Given the description of an element on the screen output the (x, y) to click on. 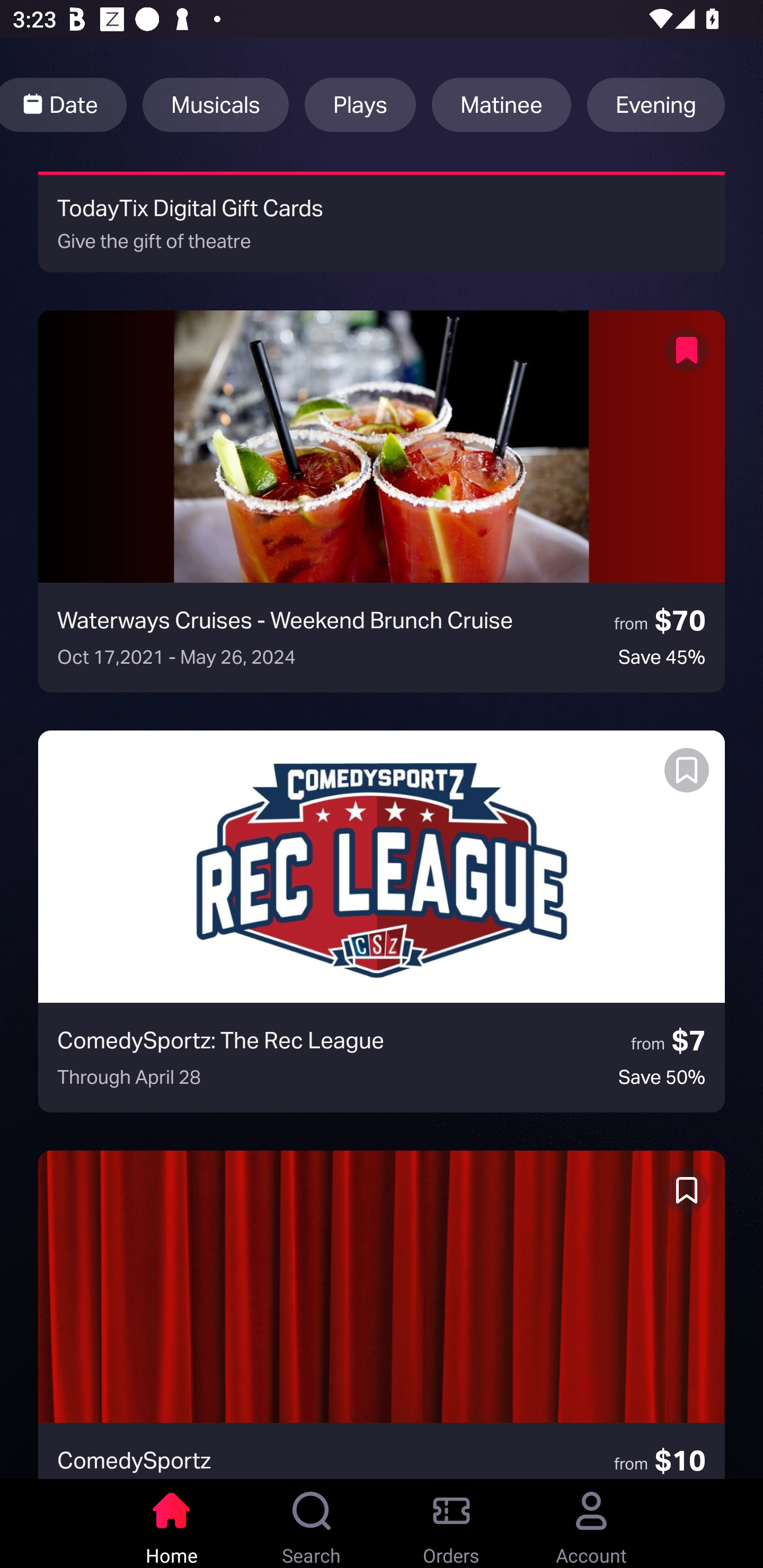
Date (63, 104)
Musicals (215, 104)
Plays (359, 104)
Matinee (501, 104)
Evening (655, 104)
ComedySportz from $10 (381, 1314)
Search (311, 1523)
Orders (451, 1523)
Account (591, 1523)
